Given the description of an element on the screen output the (x, y) to click on. 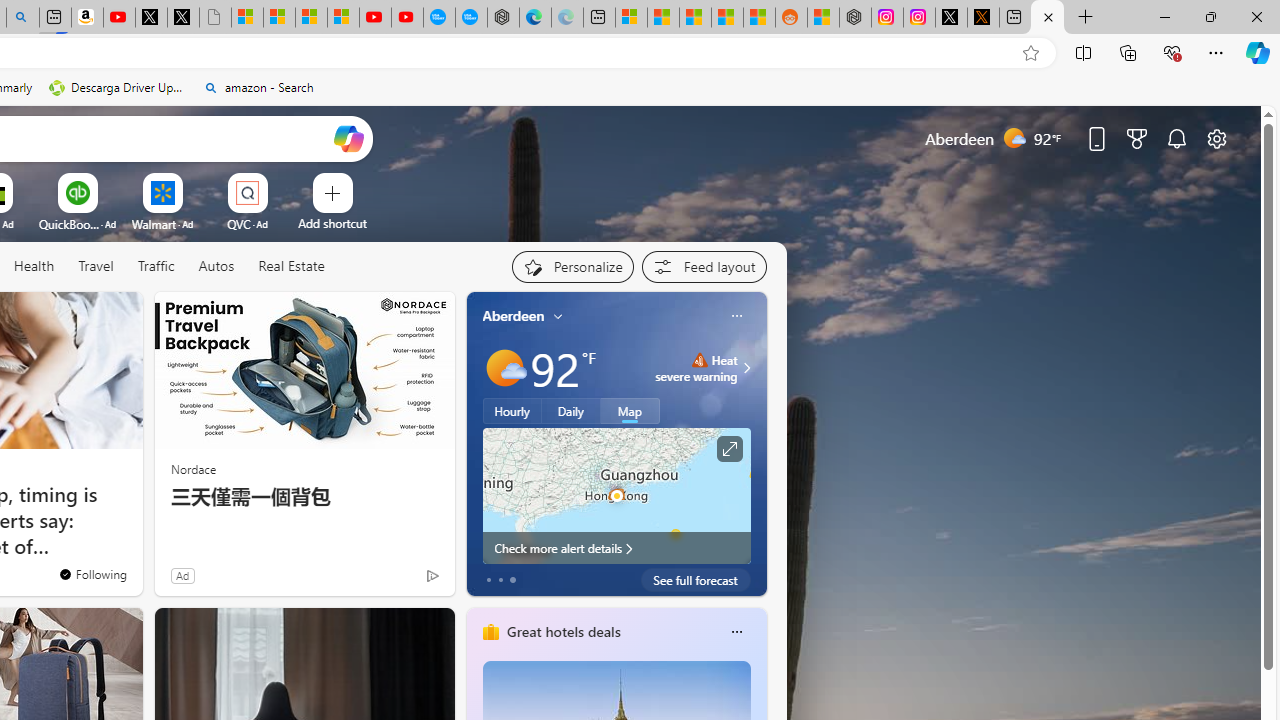
Ad Choice (432, 575)
Add a site (332, 223)
tab-2 (511, 579)
Travel (95, 267)
Travel (95, 265)
Shanghai, China hourly forecast | Microsoft Weather (694, 17)
help.x.com | 524: A timeout occurred (983, 17)
My location (558, 315)
